Given the description of an element on the screen output the (x, y) to click on. 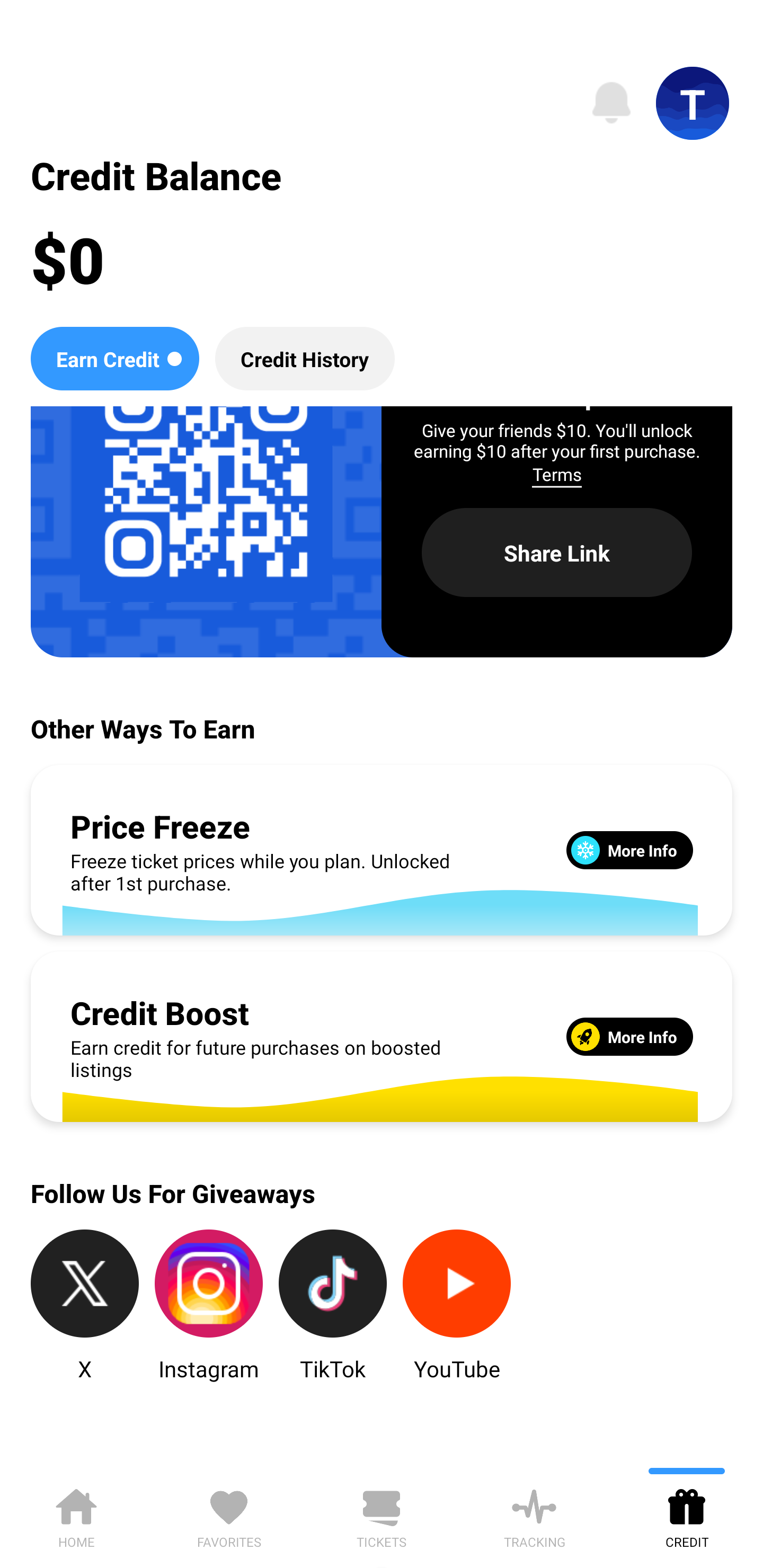
T (692, 103)
Earn Credit (114, 358)
Credit History (304, 358)
Share Link (556, 552)
More Info (629, 849)
More Info (629, 1036)
X (84, 1305)
Instagram (208, 1305)
TikTok (332, 1305)
YouTube (456, 1305)
HOME (76, 1515)
FAVORITES (228, 1515)
TICKETS (381, 1515)
TRACKING (533, 1515)
CREDIT (686, 1515)
